Given the description of an element on the screen output the (x, y) to click on. 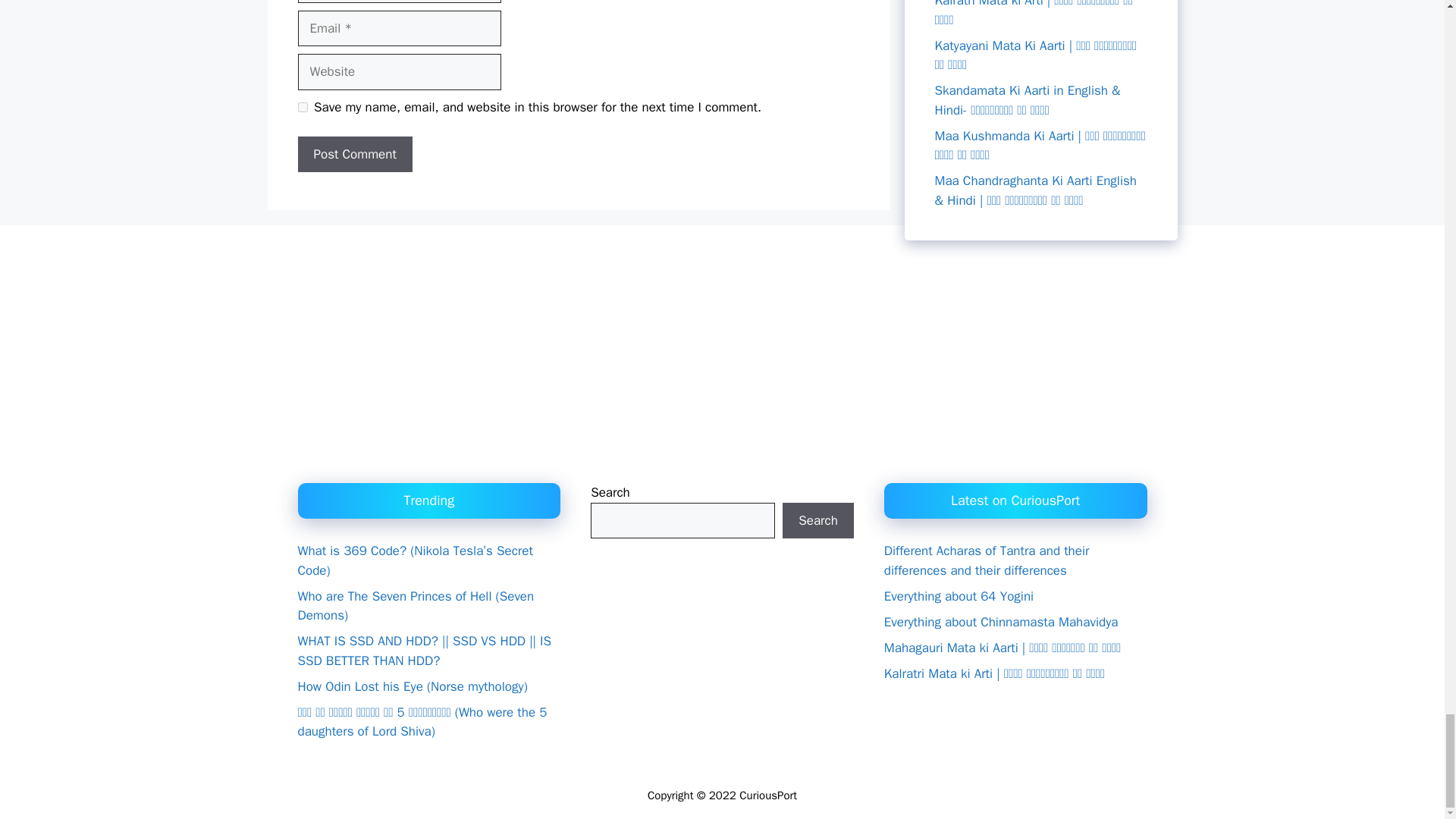
Post Comment (354, 154)
yes (302, 107)
